Given the description of an element on the screen output the (x, y) to click on. 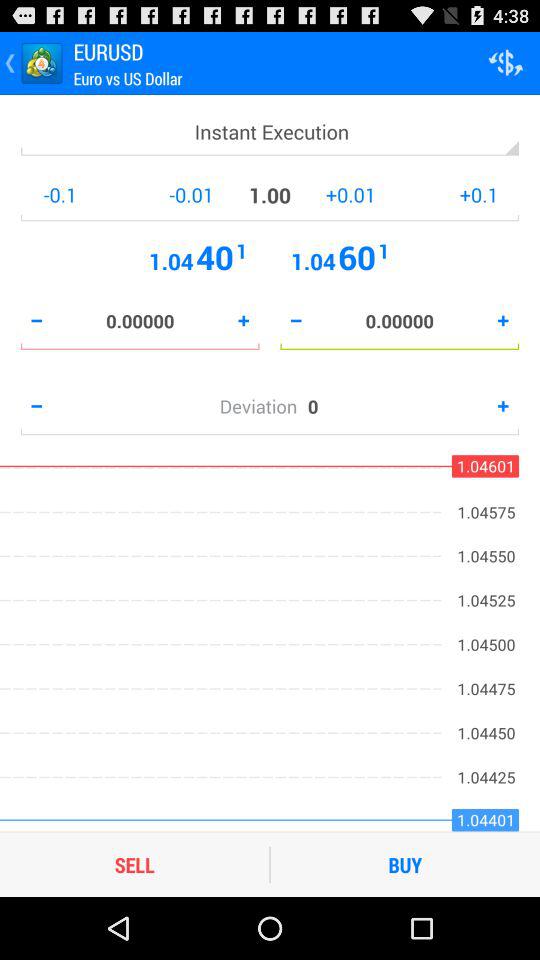
swipe to sell (134, 864)
